Given the description of an element on the screen output the (x, y) to click on. 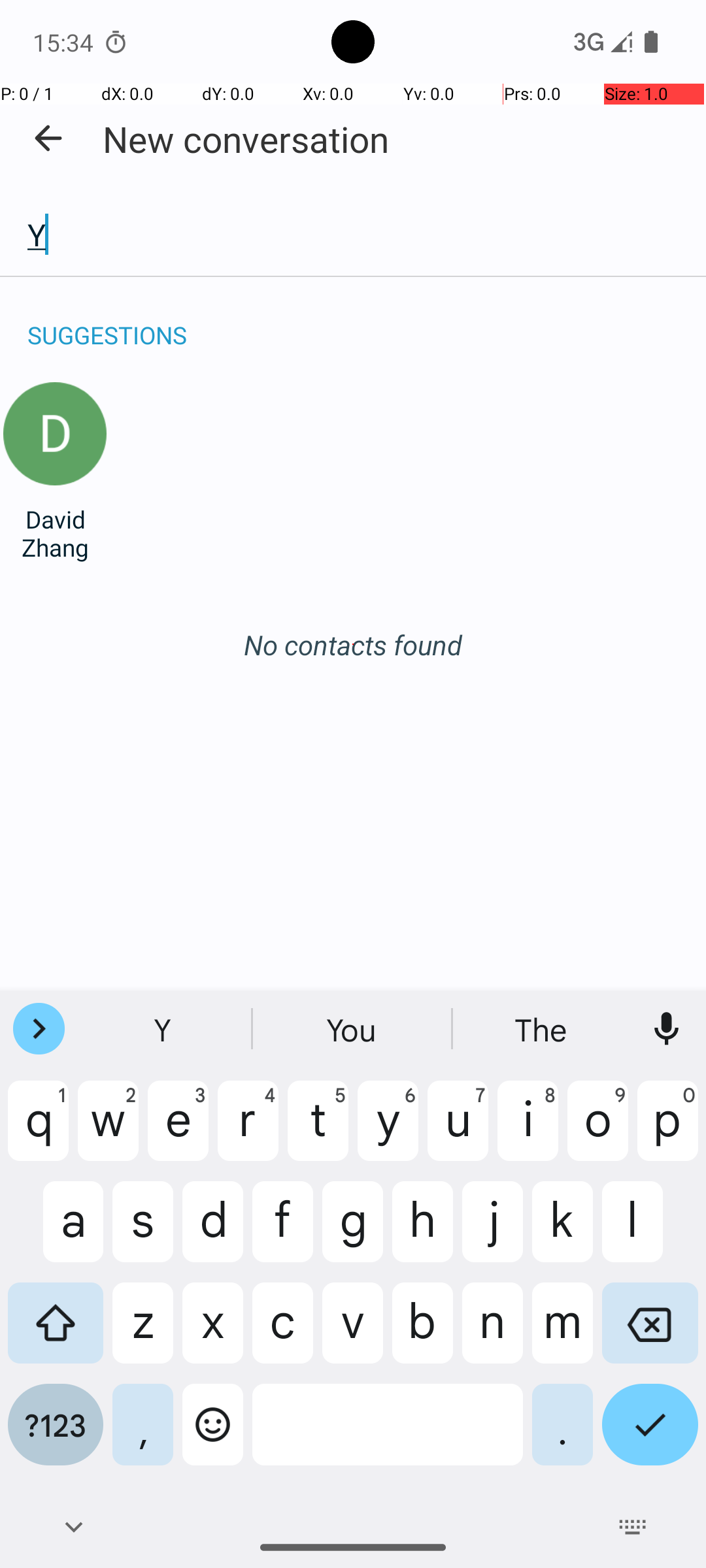
SUGGESTIONS Element type: android.widget.TextView (106, 321)
David Zhang Element type: android.widget.TextView (54, 532)
You Element type: android.widget.FrameLayout (352, 1028)
The Element type: android.widget.FrameLayout (541, 1028)
